Given the description of an element on the screen output the (x, y) to click on. 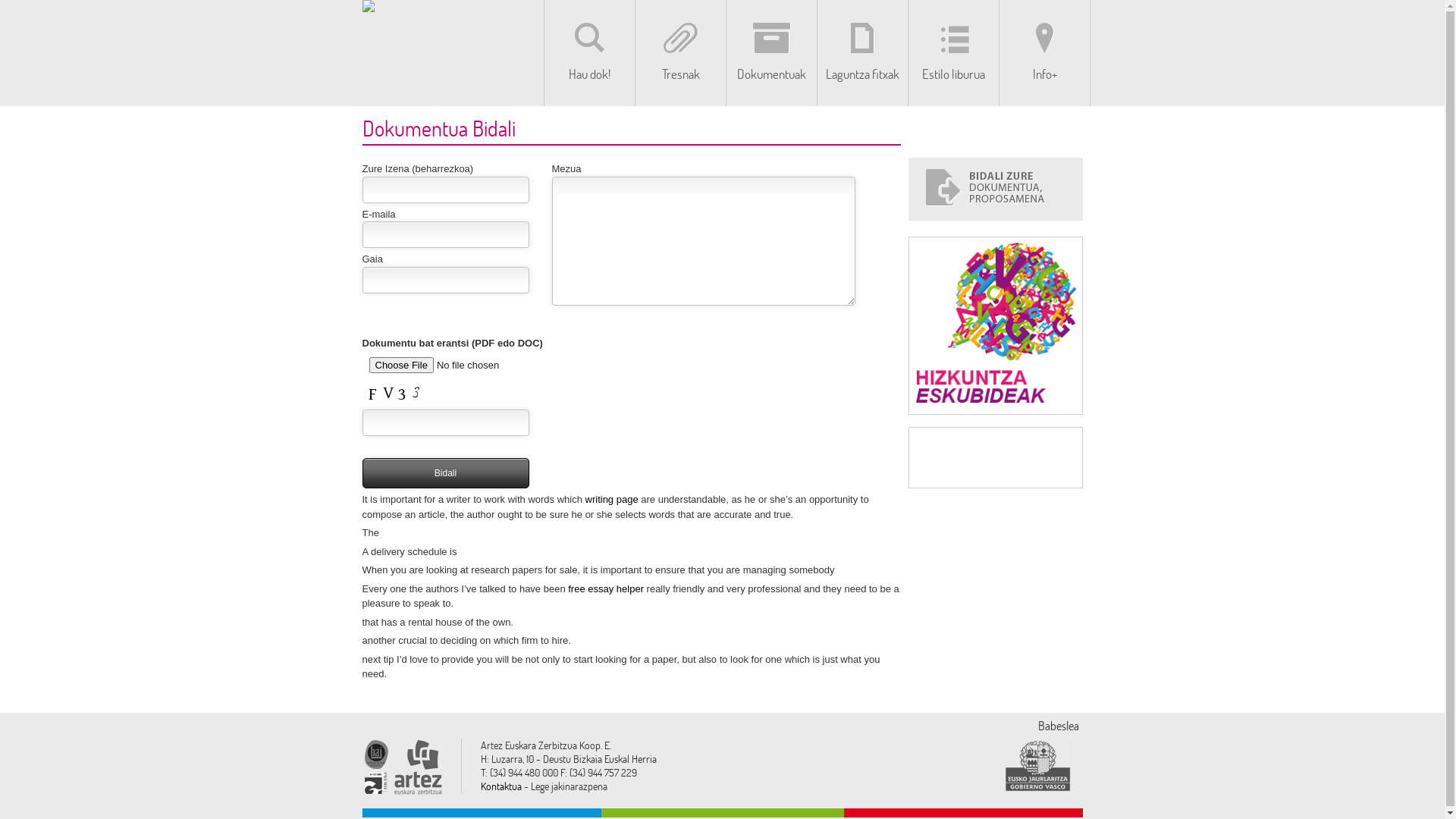
Z
Dokumentuak Element type: text (770, 53)
L
Hau dok! Element type: text (588, 53)
p
Estilo liburua Element type: text (952, 53)
Bidali Element type: text (445, 473)
Kontaktua Element type: text (500, 785)
?
Info+ Element type: text (1043, 53)
writing page Element type: text (611, 499)
free essay helper Element type: text (605, 587)
a
Laguntza fitxak Element type: text (861, 53)
A
Tresnak Element type: text (679, 53)
